Given the description of an element on the screen output the (x, y) to click on. 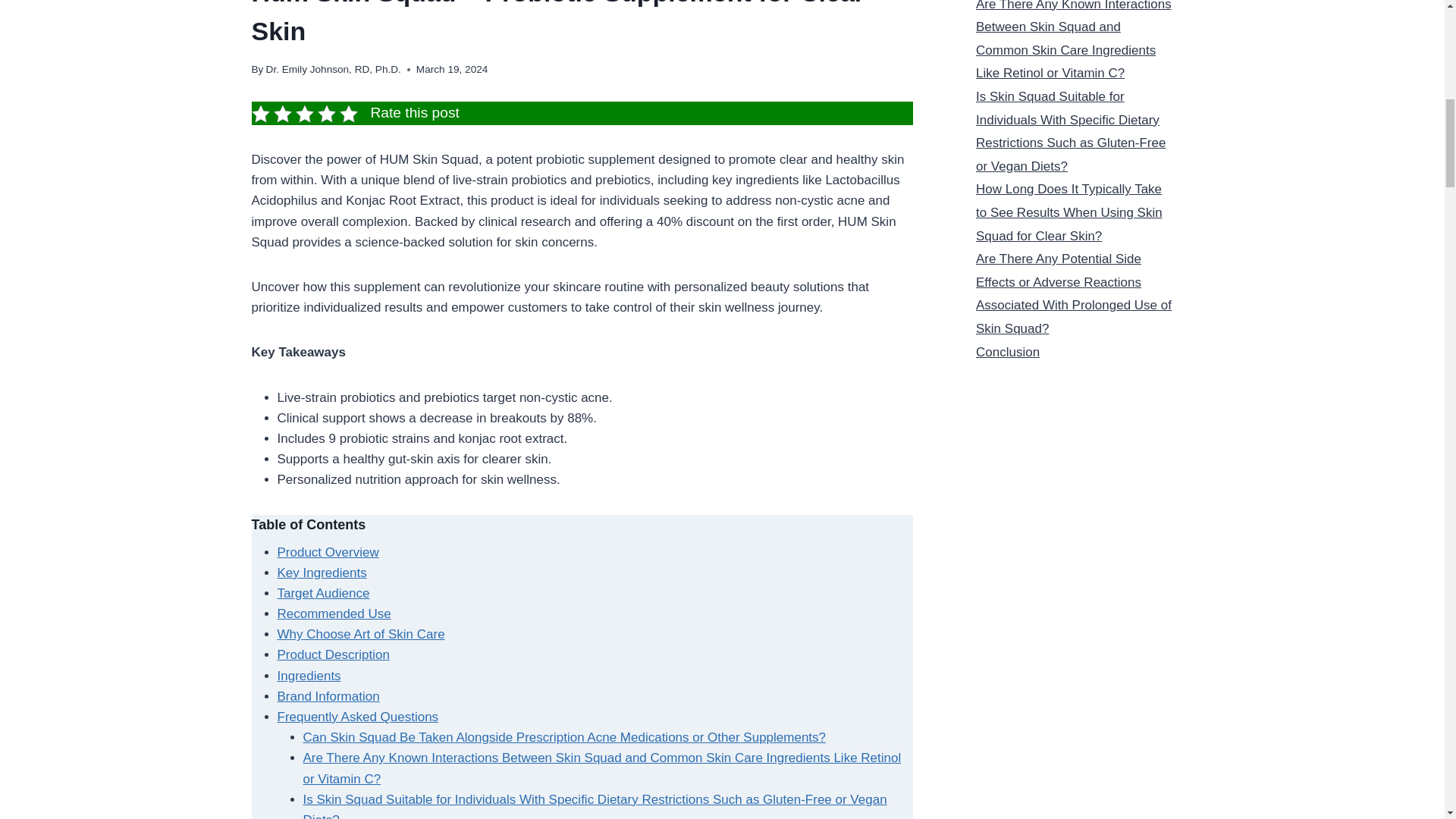
Recommended Use (334, 613)
Key Ingredients (322, 572)
Frequently Asked Questions (358, 716)
Why Choose Art of Skin Care (361, 634)
Brand Information (329, 696)
Dr. Emily Johnson, RD, Ph.D. (333, 69)
Product Description (334, 654)
